Given the description of an element on the screen output the (x, y) to click on. 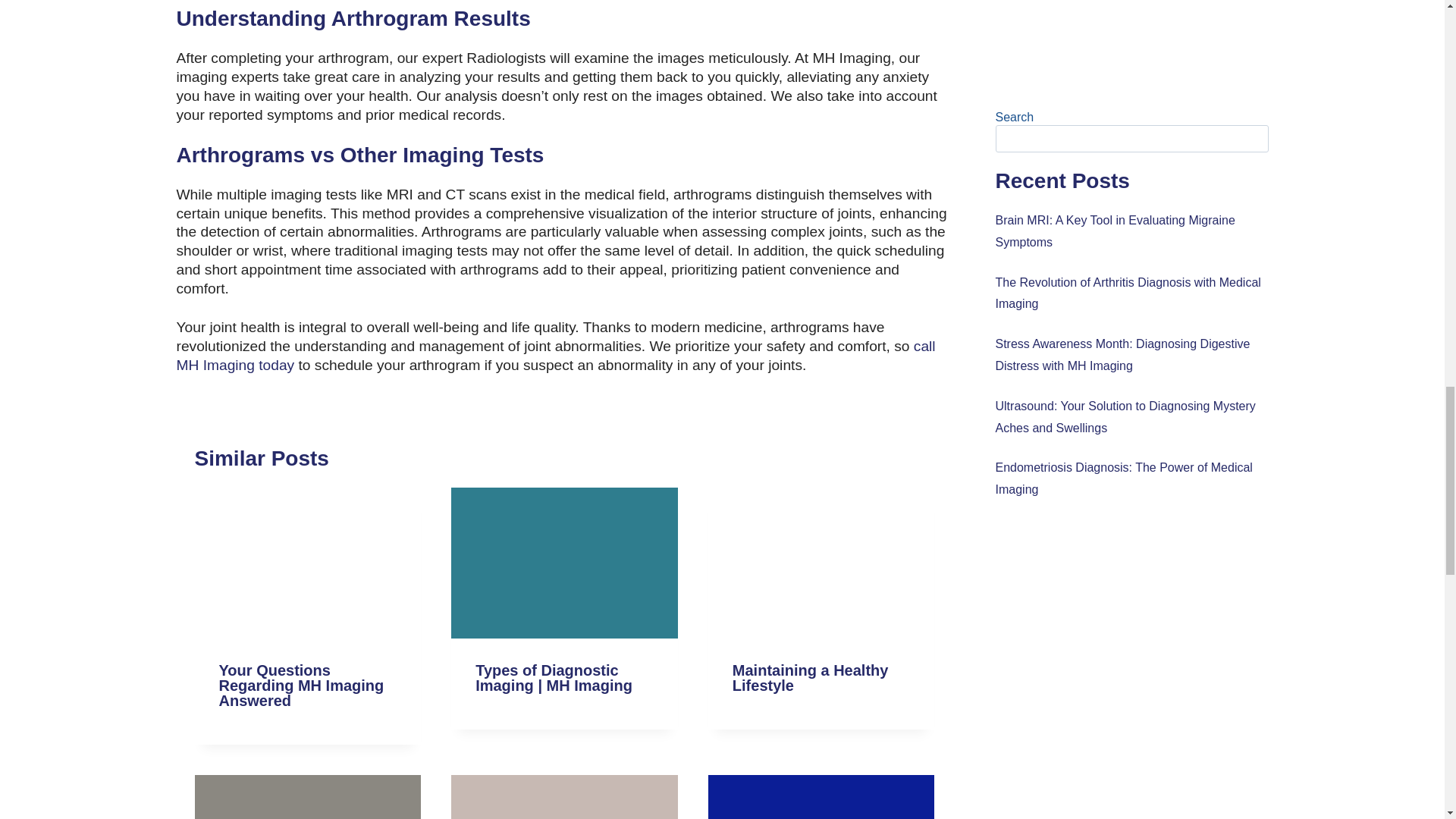
call MH Imaging today (555, 355)
